Given the description of an element on the screen output the (x, y) to click on. 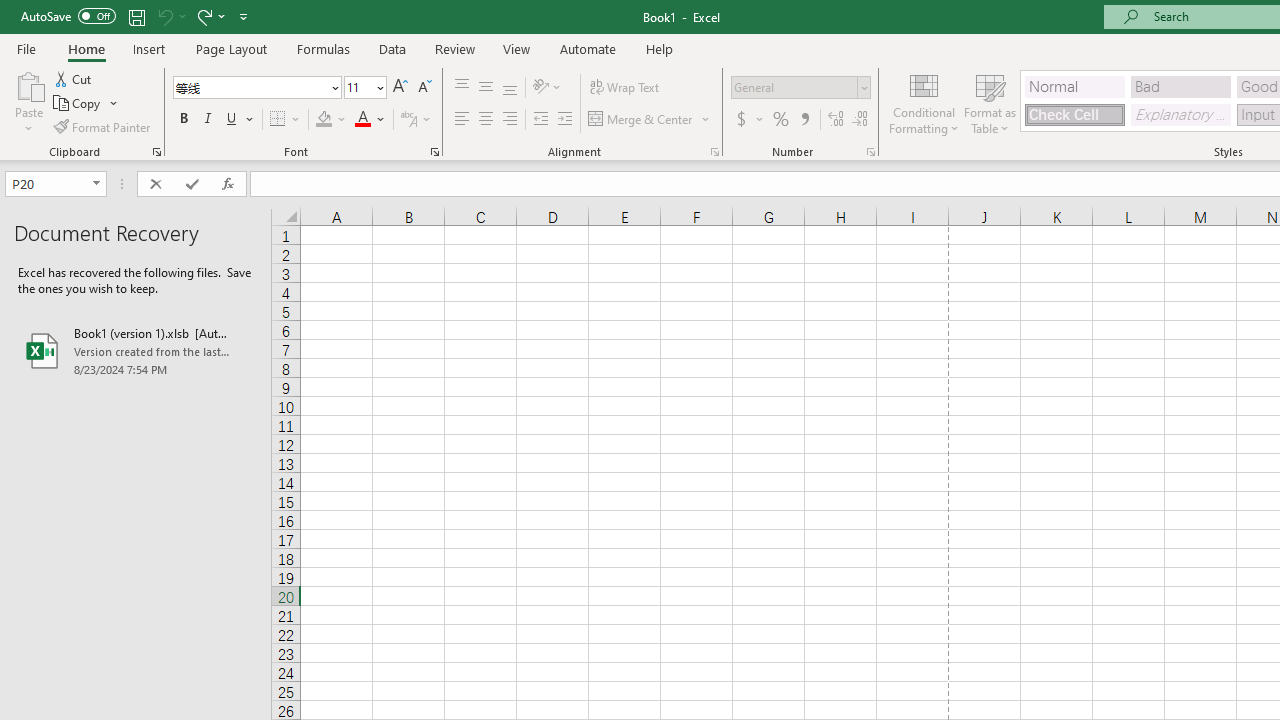
Paste (28, 102)
Middle Align (485, 87)
Bottom Align (509, 87)
AutoSave (68, 16)
Font Size (365, 87)
Decrease Indent (540, 119)
Font Color (370, 119)
Copy (78, 103)
Italic (207, 119)
